Given the description of an element on the screen output the (x, y) to click on. 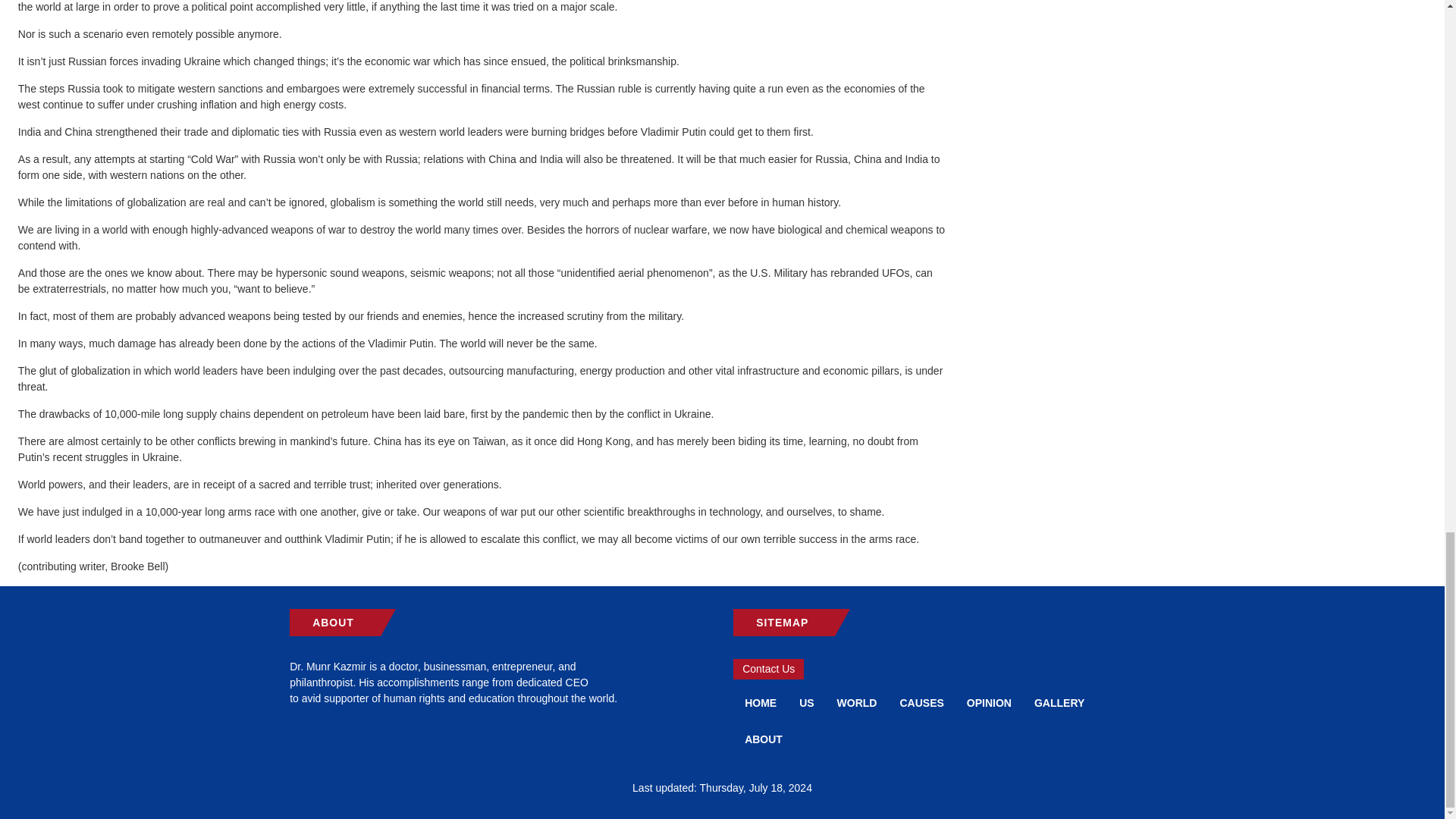
US (806, 702)
World (856, 702)
CAUSES (921, 702)
HOME (760, 702)
Contact Us (768, 669)
ABOUT (763, 739)
About (763, 739)
Contact Us (768, 669)
WORLD (856, 702)
GALLERY (1059, 702)
OPINION (989, 702)
Gallery (1059, 702)
US (806, 702)
Causes (921, 702)
